Given the description of an element on the screen output the (x, y) to click on. 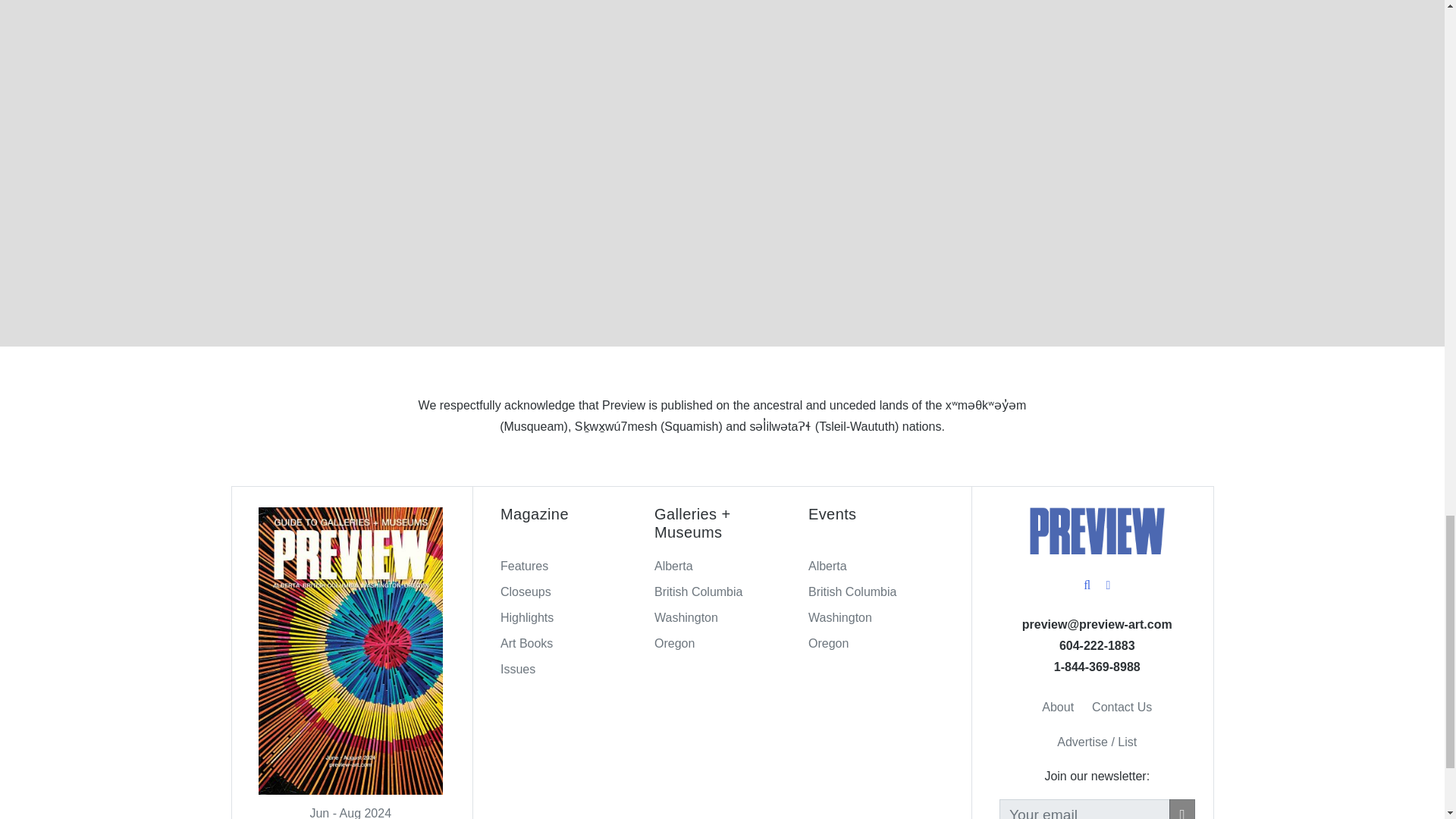
Preview Art Magazine Homepage (1097, 531)
Phone  (1097, 645)
Phone  (1097, 666)
Email  (1097, 624)
Subscribe (1181, 809)
